Given the description of an element on the screen output the (x, y) to click on. 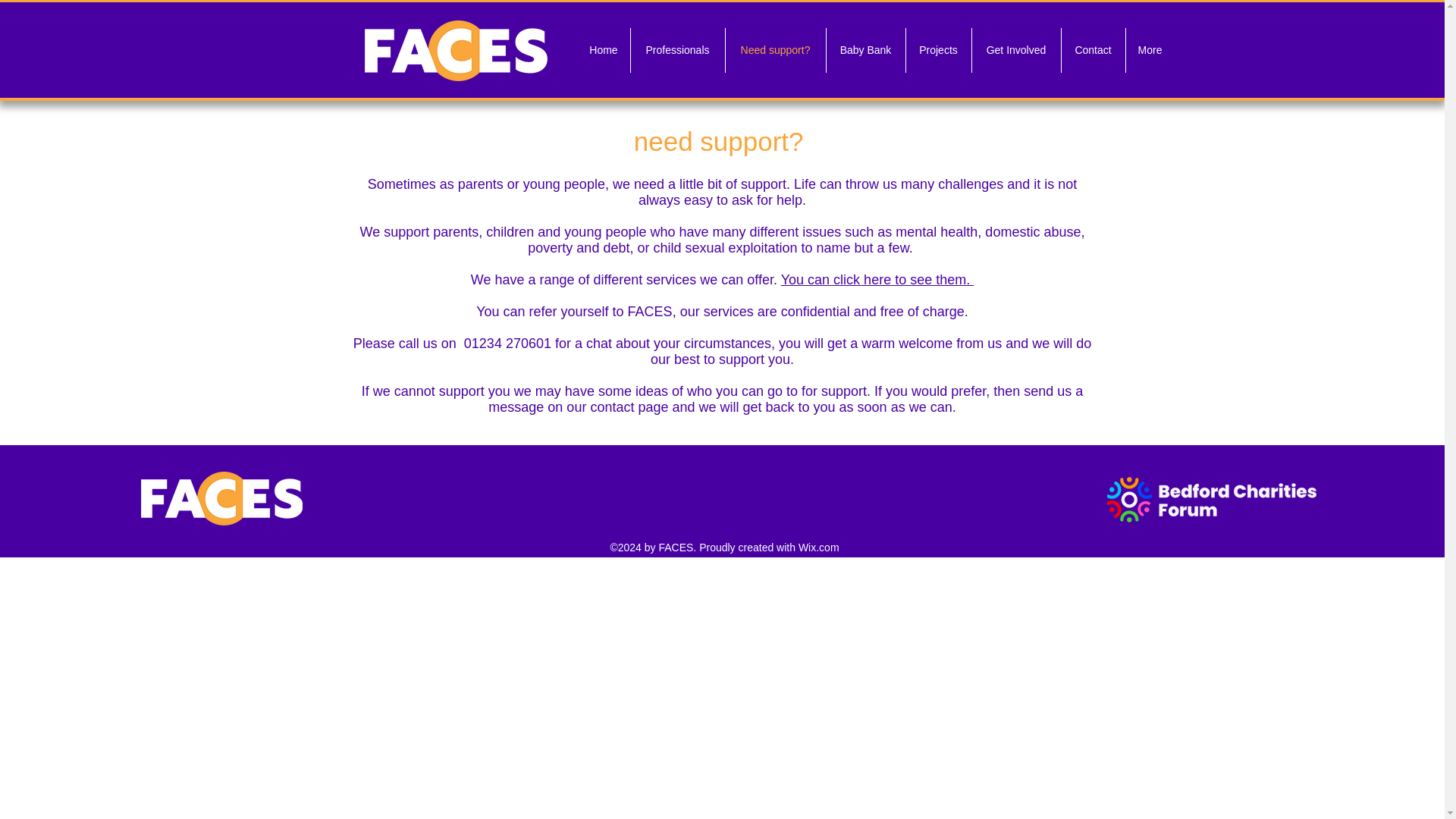
You can click here to see them.  (877, 279)
Professionals (677, 49)
Need support? (775, 49)
Get Involved (1016, 49)
Home (604, 49)
Contact (1093, 49)
Baby Bank (866, 49)
